Given the description of an element on the screen output the (x, y) to click on. 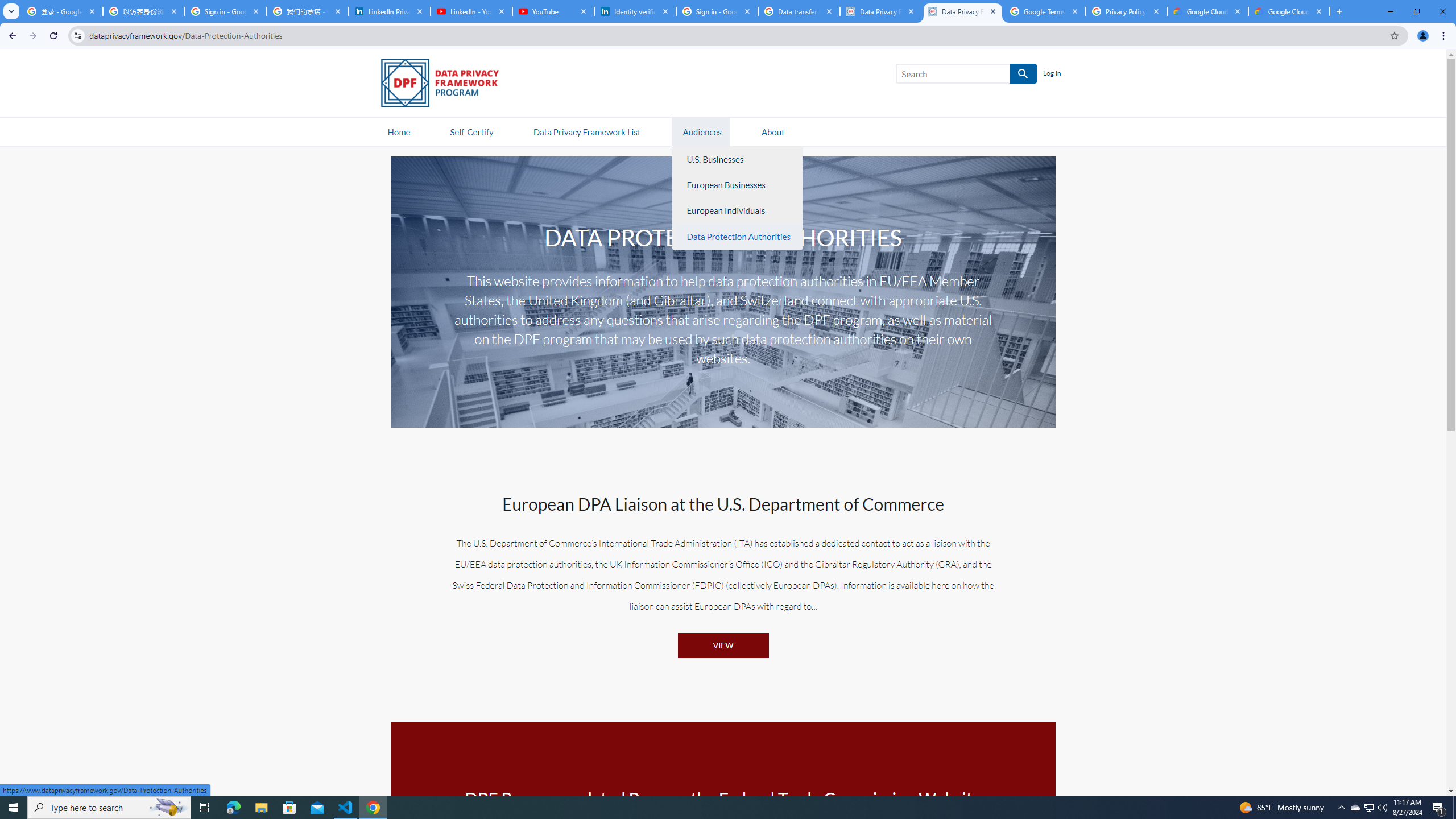
Data Privacy Framework (963, 11)
Home (398, 131)
U.S. Businesses (738, 158)
European Individuals (738, 211)
Data Protection Authorities (738, 236)
LinkedIn Privacy Policy (389, 11)
Audiences (702, 131)
Google Cloud Privacy Notice (1289, 11)
YouTube (552, 11)
Sign in - Google Accounts (225, 11)
LinkedIn - YouTube (470, 11)
Sign in - Google Accounts (716, 11)
